Given the description of an element on the screen output the (x, y) to click on. 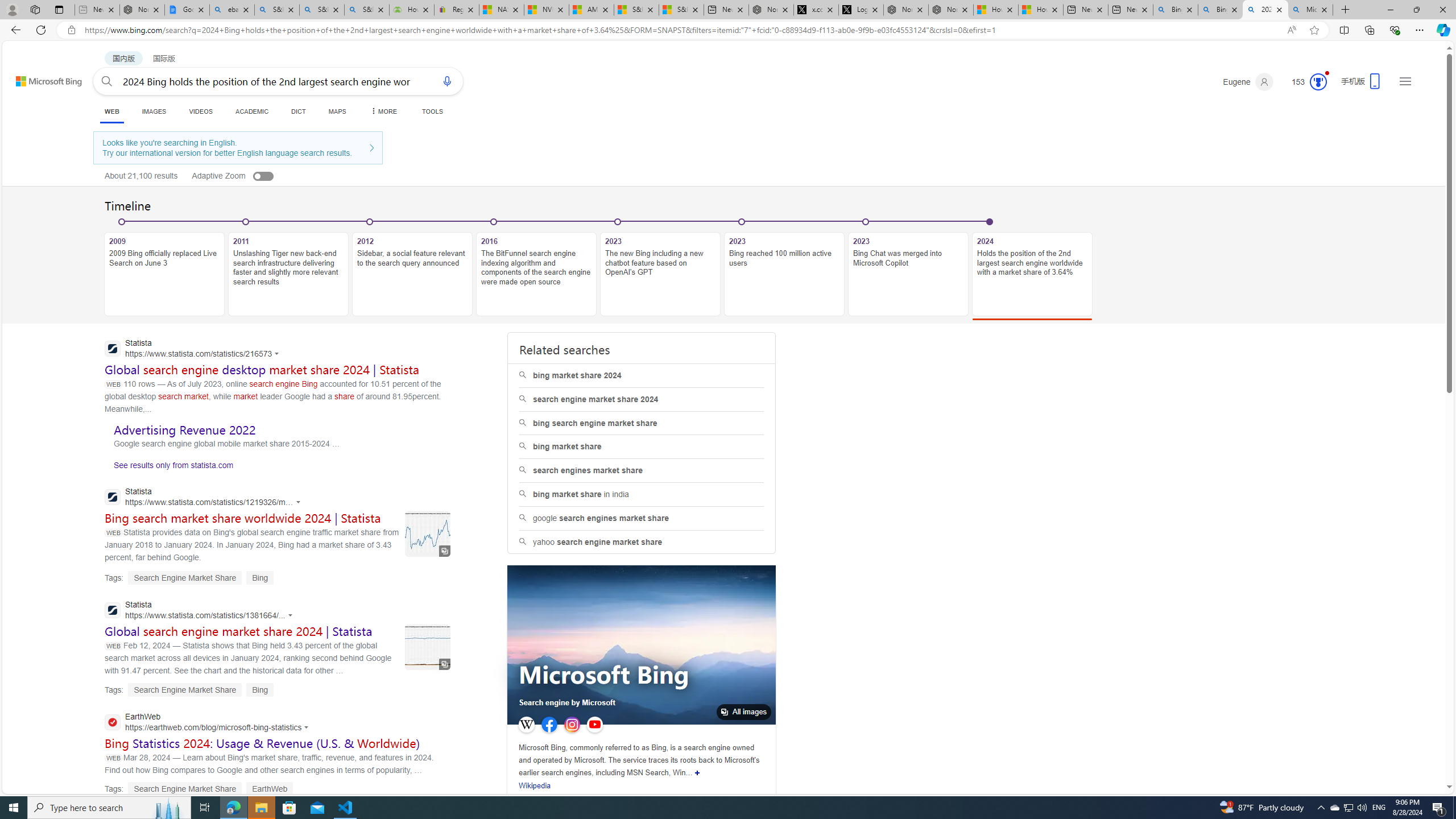
search engines market share (641, 470)
DICT (298, 111)
MORE (382, 111)
Facebook (549, 724)
IMAGES (153, 111)
Back to Bing search (41, 78)
Eugene (1248, 81)
Actions for this site (307, 727)
2009 2009 Bing officially replaced Live Search on June 3 (164, 273)
